Given the description of an element on the screen output the (x, y) to click on. 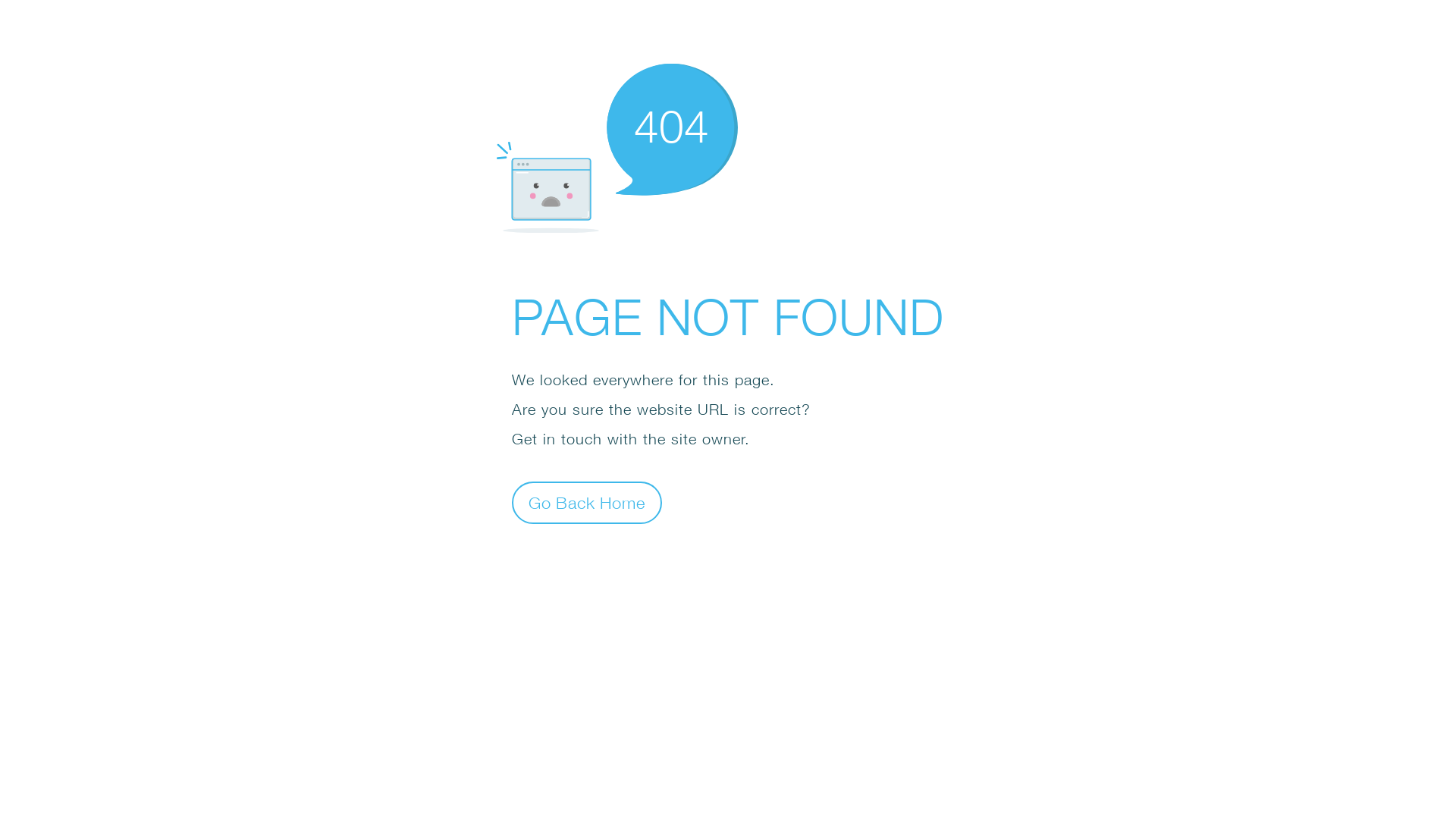
Go Back Home Element type: text (586, 502)
